Given the description of an element on the screen output the (x, y) to click on. 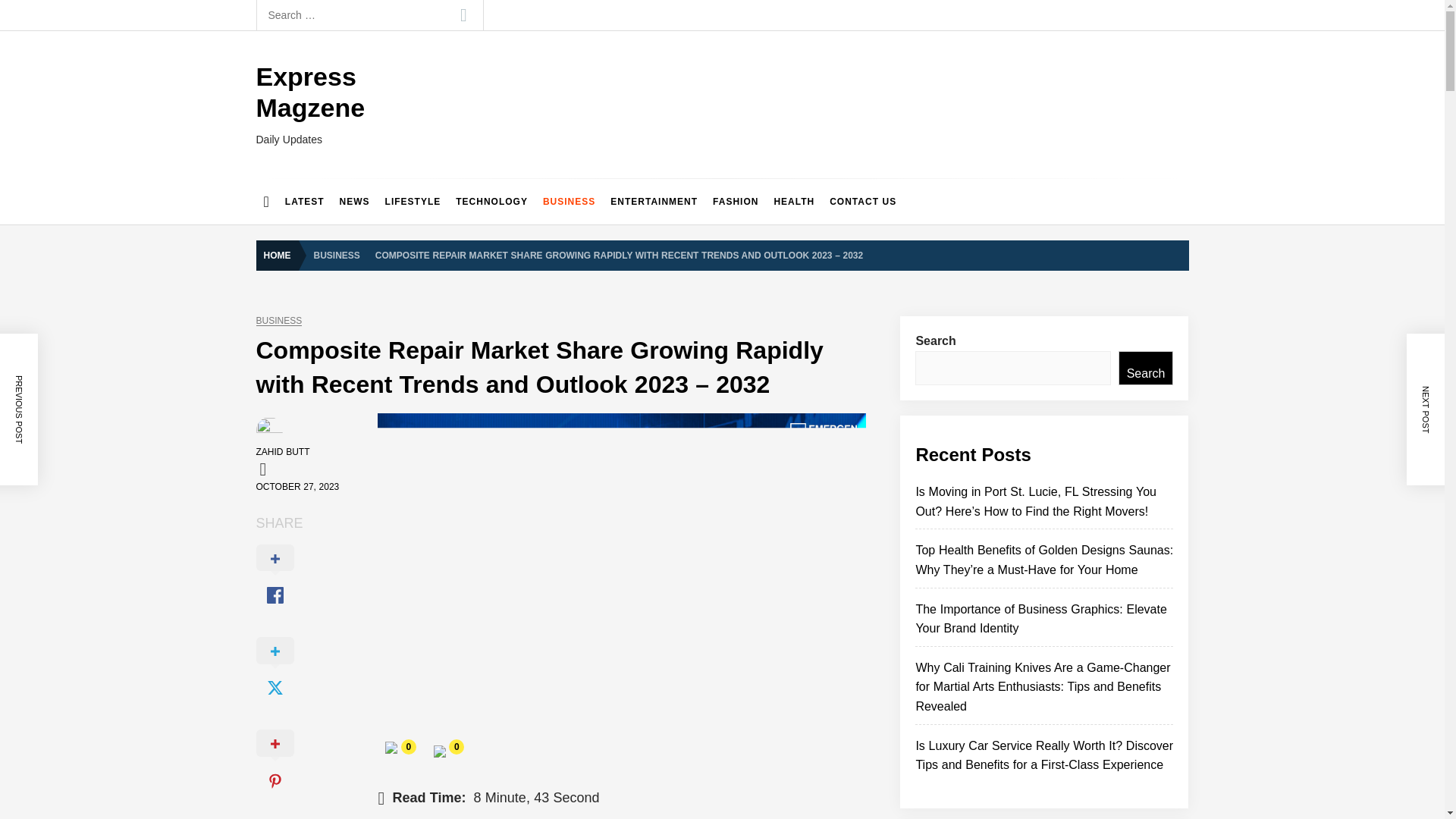
NEWS (354, 201)
CONTACT US (863, 201)
Search (462, 15)
LATEST (304, 201)
LIFESTYLE (412, 201)
BUSINESS (279, 320)
OCTOBER 27, 2023 (297, 486)
BUSINESS (568, 201)
TECHNOLOGY (491, 201)
HOME (280, 255)
